Given the description of an element on the screen output the (x, y) to click on. 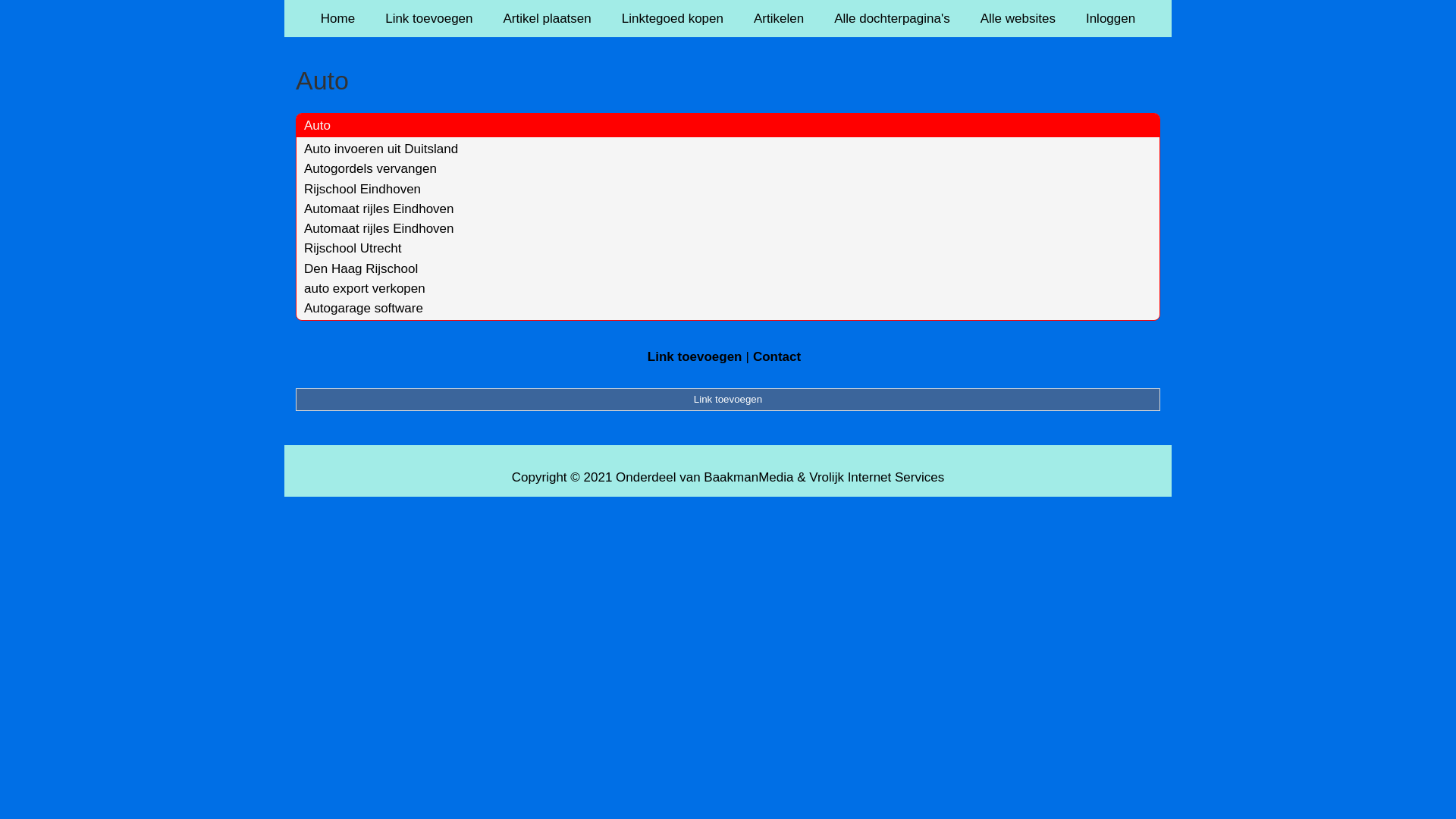
Alle websites Element type: text (1017, 18)
Artikelen Element type: text (778, 18)
Auto Element type: text (727, 80)
Rijschool Utrecht Element type: text (352, 248)
Link toevoegen Element type: text (727, 399)
Link toevoegen Element type: text (428, 18)
Artikel plaatsen Element type: text (547, 18)
Auto invoeren uit Duitsland Element type: text (381, 148)
Autogarage software Element type: text (363, 308)
Home Element type: text (337, 18)
Rijschool Eindhoven Element type: text (362, 189)
Vrolijk Internet Services Element type: text (876, 477)
Autogordels vervangen Element type: text (370, 168)
Inloggen Element type: text (1110, 18)
Contact Element type: text (776, 356)
Linktegoed kopen Element type: text (672, 18)
Automaat rijles Eindhoven Element type: text (379, 228)
Alle dochterpagina's Element type: text (892, 18)
Automaat rijles Eindhoven Element type: text (379, 208)
Den Haag Rijschool Element type: text (360, 268)
Auto Element type: text (317, 125)
BaakmanMedia Element type: text (748, 477)
auto export verkopen Element type: text (364, 288)
Link toevoegen Element type: text (694, 356)
